Given the description of an element on the screen output the (x, y) to click on. 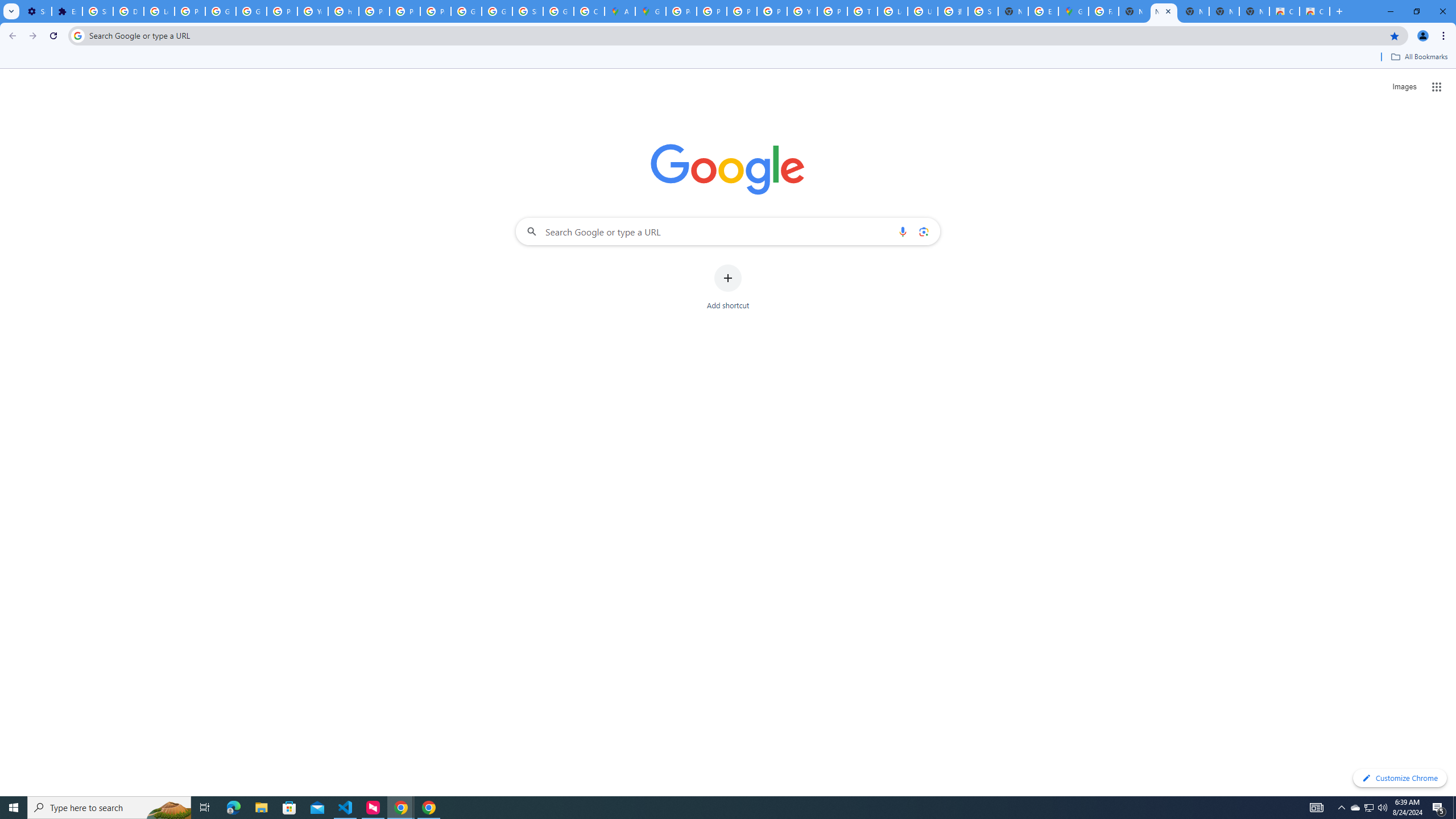
Delete photos & videos - Computer - Google Photos Help (127, 11)
https://scholar.google.com/ (343, 11)
All Bookmarks (1418, 56)
Privacy Help Center - Policies Help (373, 11)
YouTube (801, 11)
Settings - On startup (36, 11)
Policy Accountability and Transparency - Transparency Center (681, 11)
Search icon (77, 35)
Tips & tricks for Chrome - Google Chrome Help (862, 11)
New Tab (1012, 11)
